Given the description of an element on the screen output the (x, y) to click on. 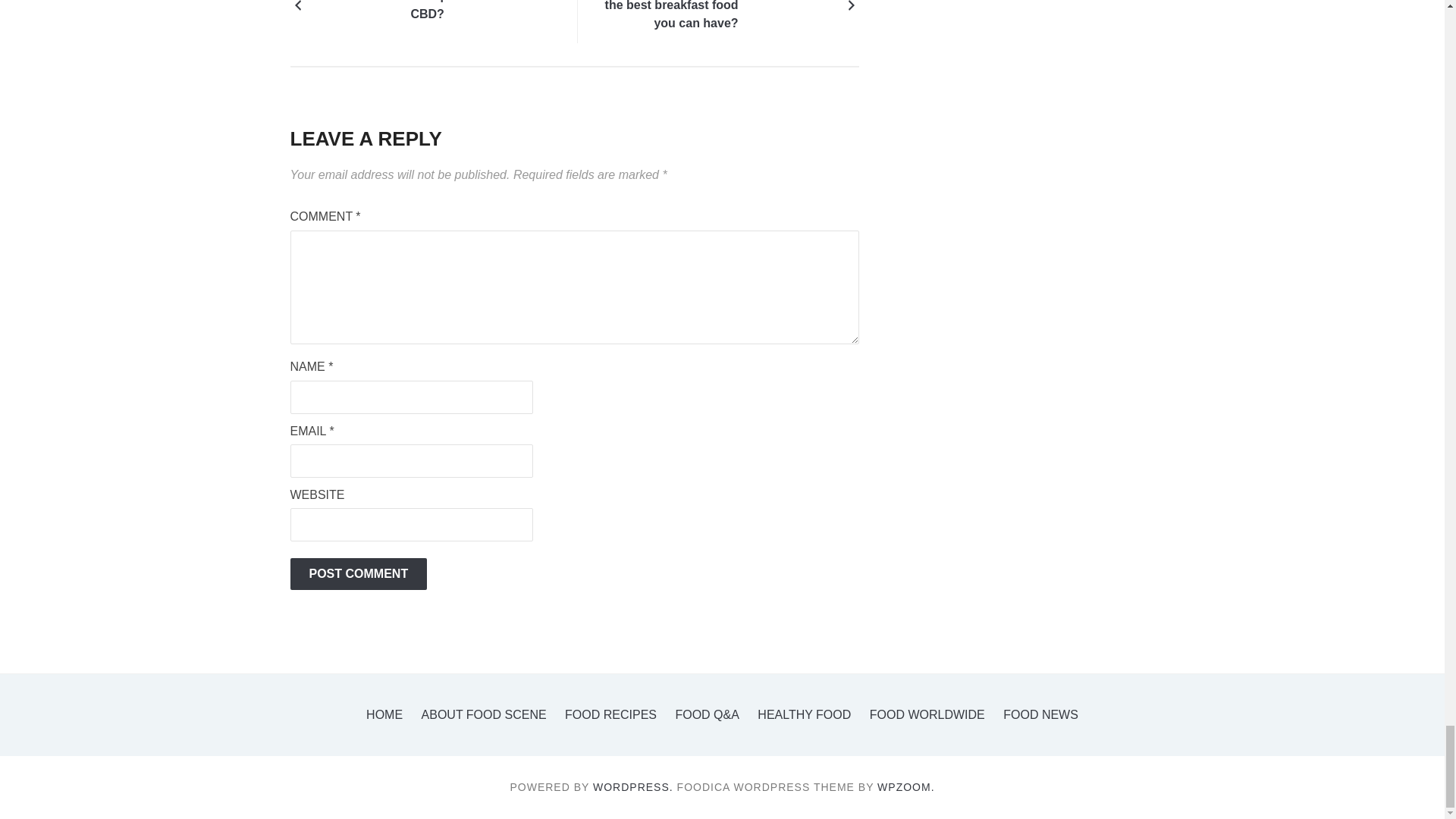
Post Comment (357, 573)
Is Copaiba the new CBD? (480, 11)
Is Copaiba the new CBD? (357, 5)
Is cornmeal porridge the best breakfast food you can have? (790, 5)
Is cornmeal porridge the best breakfast food you can have? (667, 16)
